Given the description of an element on the screen output the (x, y) to click on. 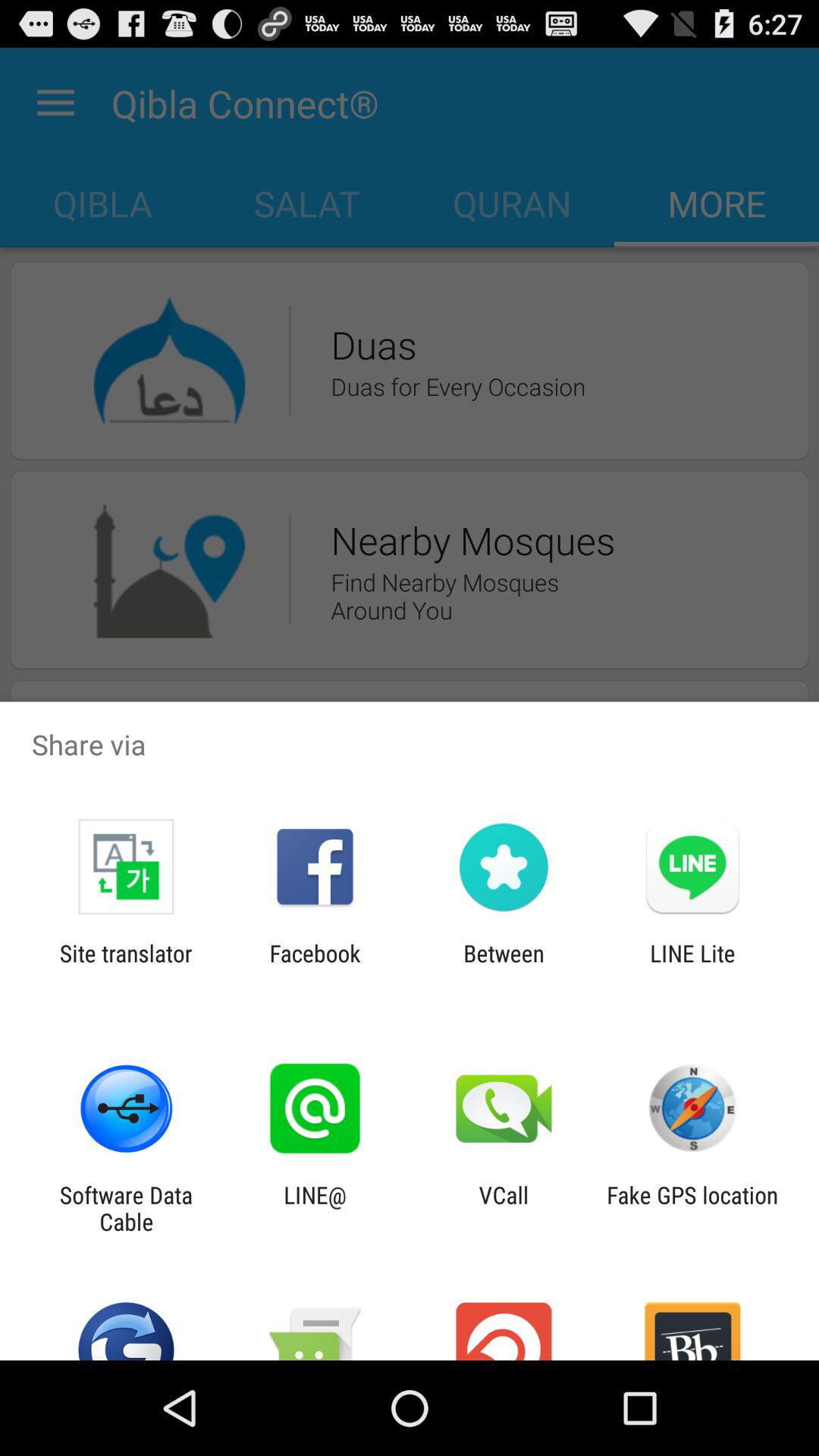
choose app next to fake gps location (503, 1208)
